Given the description of an element on the screen output the (x, y) to click on. 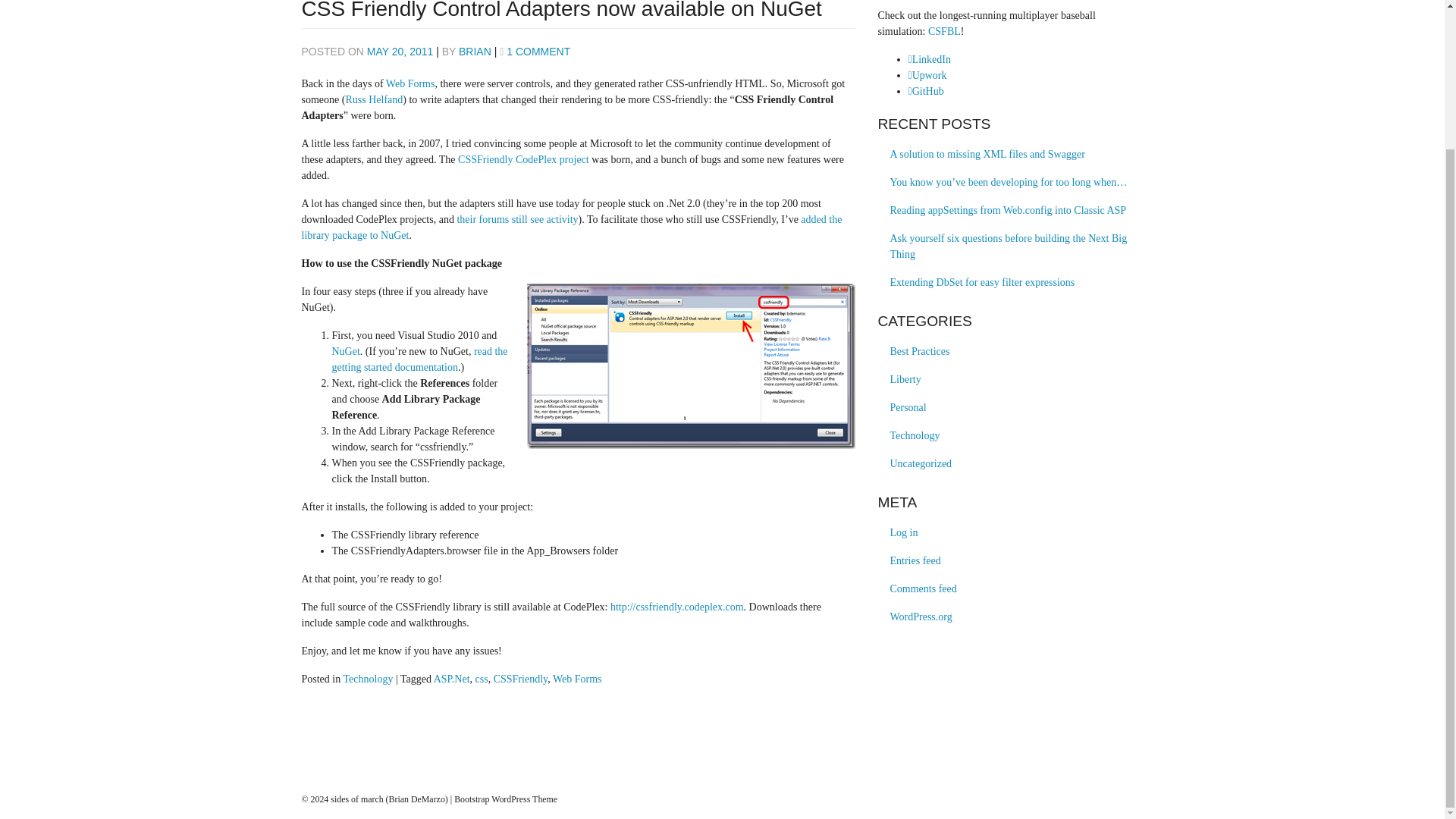
CSS Friendly Control Adapters now available on NuGet (561, 10)
read the getting started documentation (419, 359)
ASP.Net (451, 678)
Programming, systems engineering, and all things IT (914, 435)
LinkedIn (929, 59)
NuGet (345, 351)
Web Forms (410, 83)
their forums still see activity (517, 219)
About me, my life, and my family (908, 407)
css (481, 678)
Technology (367, 678)
Upwork (927, 75)
CSFBL (944, 30)
MAY 20, 2011 (399, 51)
What you should do, and why. (919, 351)
